Given the description of an element on the screen output the (x, y) to click on. 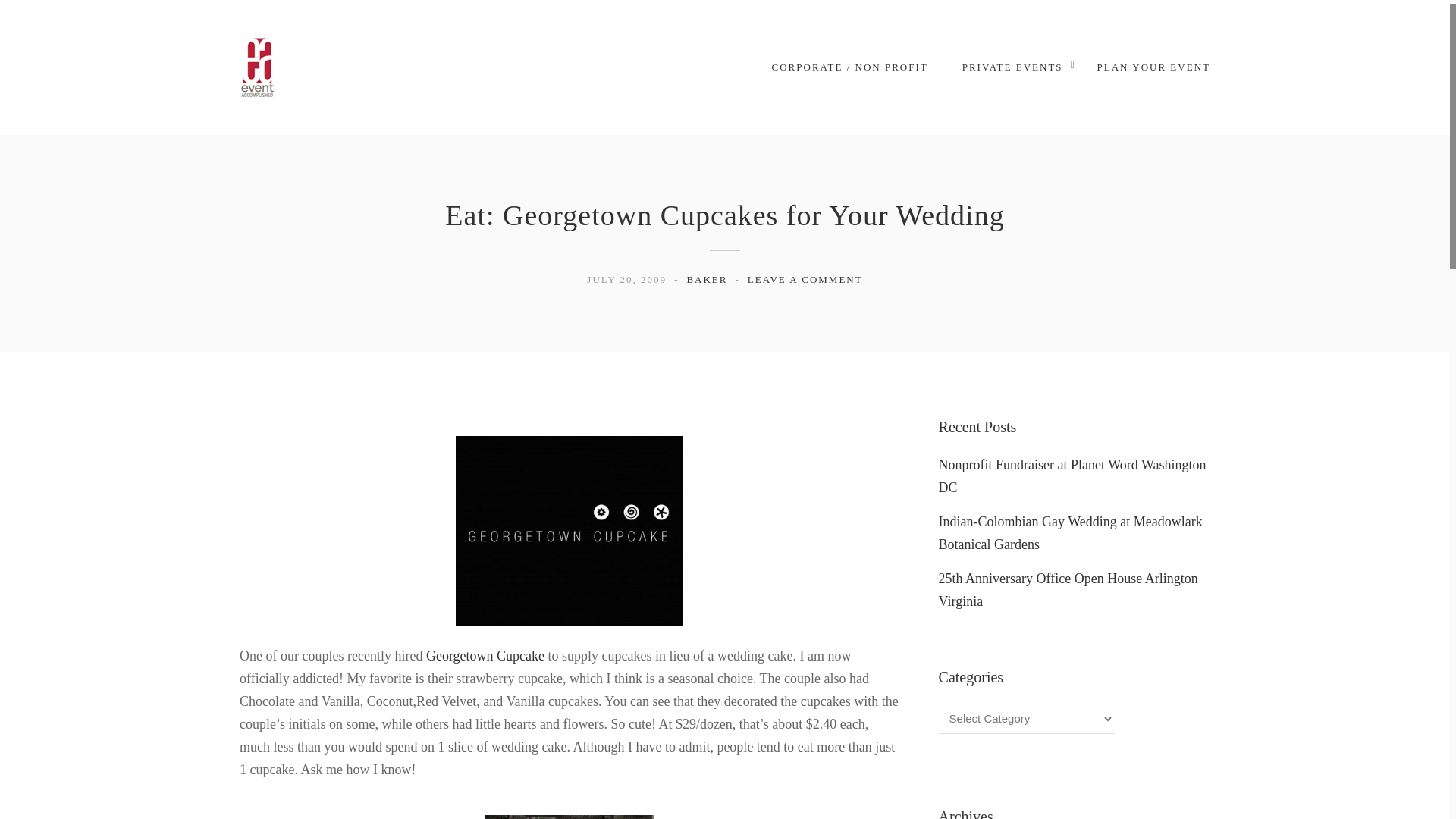
Nonprofit Fundraiser at Planet Word Washington DC (1073, 476)
Event Accomplished (257, 67)
LEAVE A COMMENT (805, 279)
BAKER (705, 279)
georgetowncupcake1 (568, 809)
Georgetown Cupcake (485, 656)
25th Anniversary Office Open House Arlington Virginia (1068, 589)
Indian-Colombian Gay Wedding at Meadowlark Botanical Gardens (1070, 533)
